Given the description of an element on the screen output the (x, y) to click on. 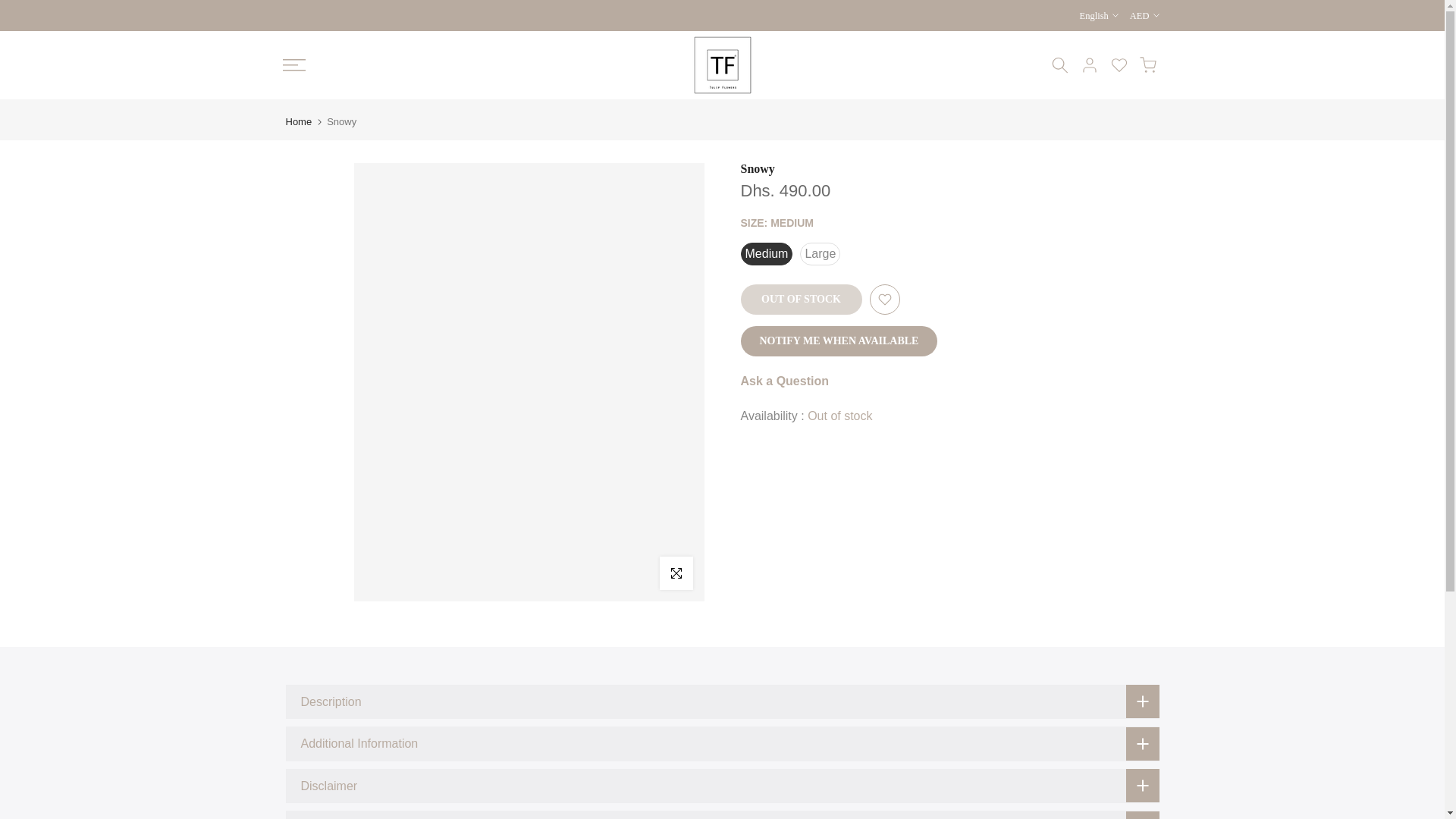
Delivery Policy (349, 621)
Disclaimer (721, 786)
Home (298, 121)
Follow on Pinterest (896, 509)
Skip to content (10, 7)
Contact US (348, 523)
Refund Policy (348, 573)
Description (721, 701)
English (1099, 14)
Additional Information (721, 743)
Follow on Facebook (844, 509)
Terms of Service (348, 597)
Follow on Tiktok (949, 509)
OUT OF STOCK (800, 299)
TF Careers (348, 646)
